Given the description of an element on the screen output the (x, y) to click on. 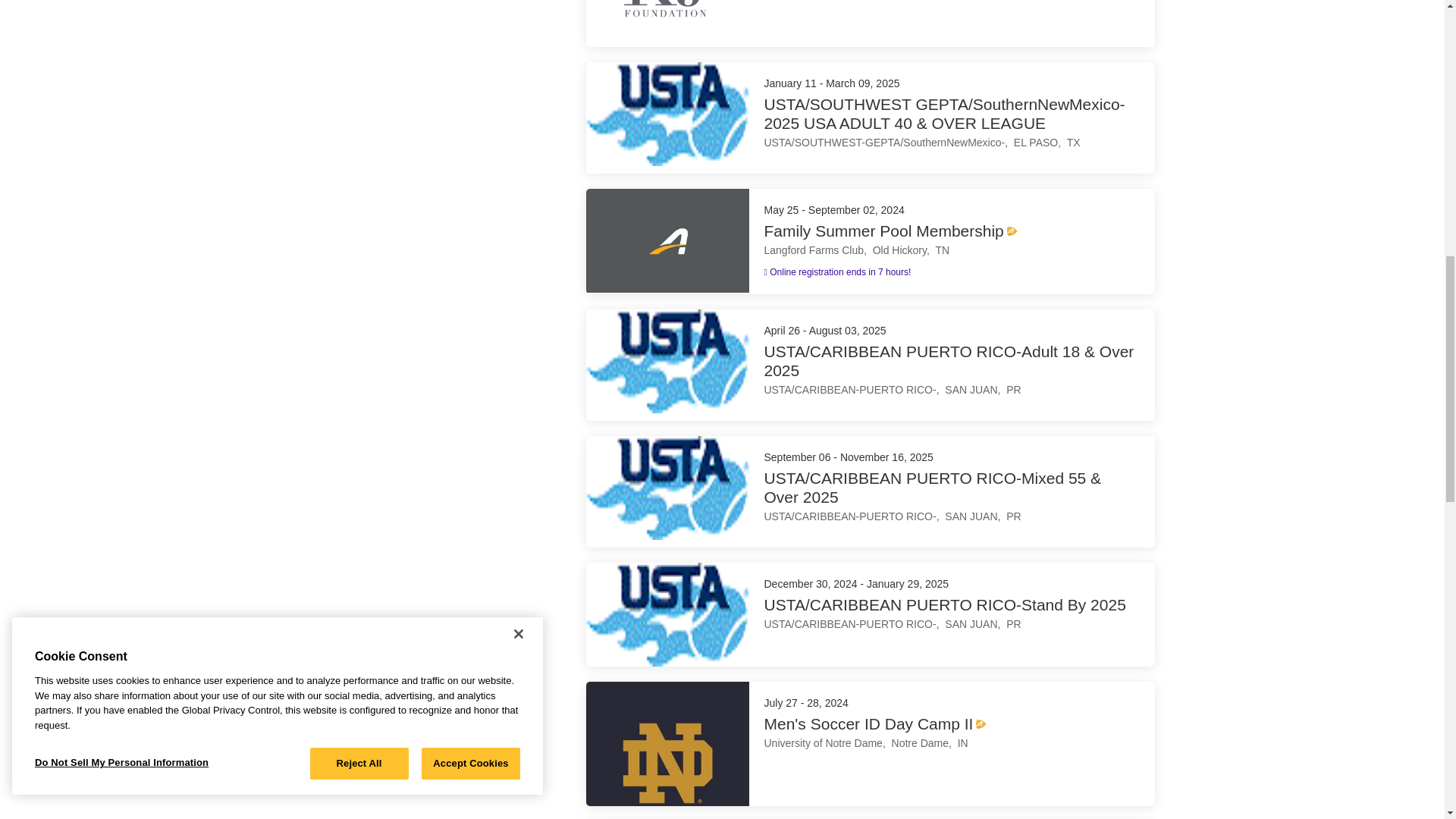
3rd party ad content (402, 85)
